Given the description of an element on the screen output the (x, y) to click on. 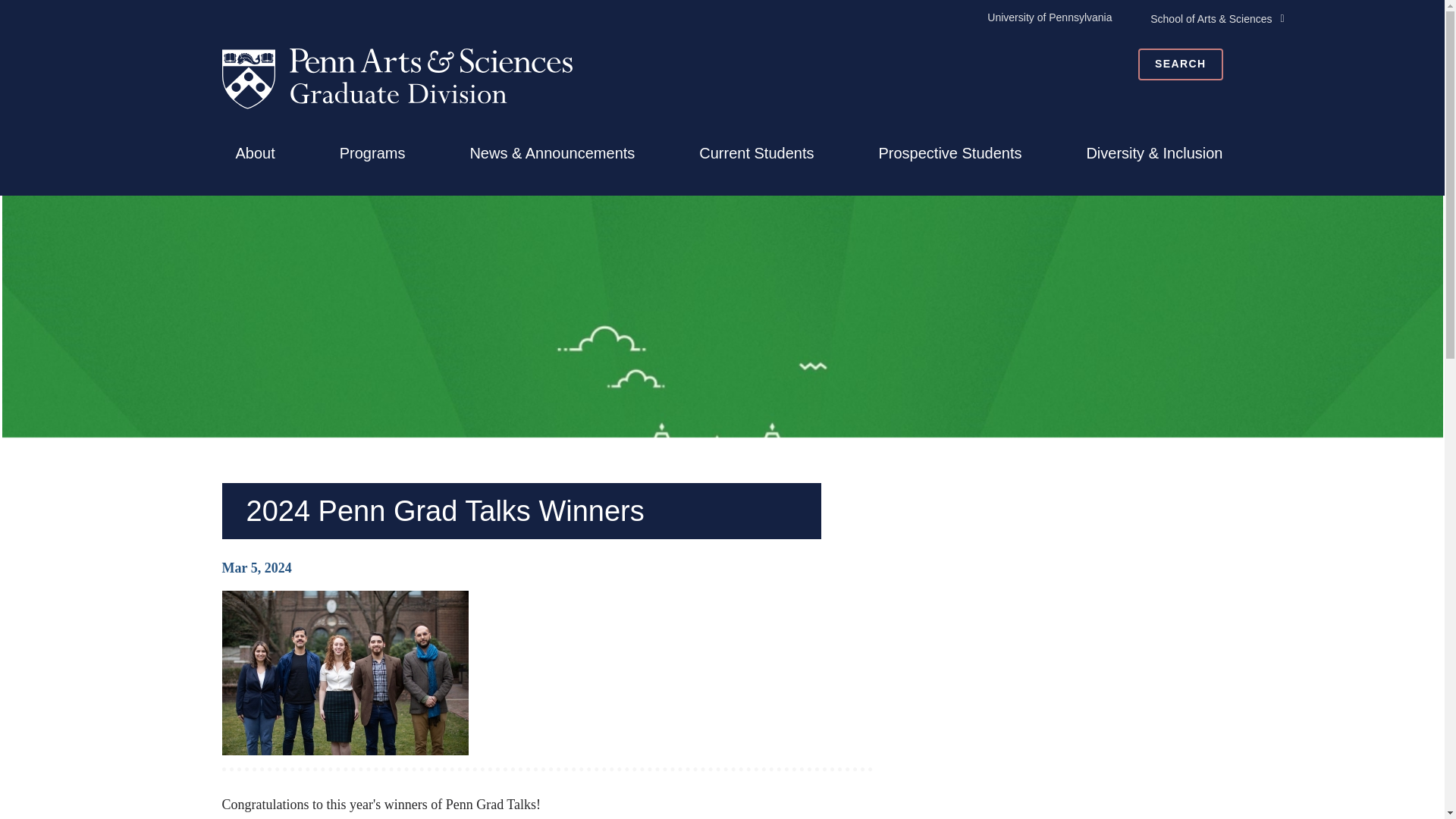
Prospective Students (949, 152)
SEARCH (1180, 64)
University of Pennsylvania (1049, 17)
Current Students (755, 152)
University of Pennsylvania (1049, 17)
Programs (372, 152)
About (254, 152)
